Given the description of an element on the screen output the (x, y) to click on. 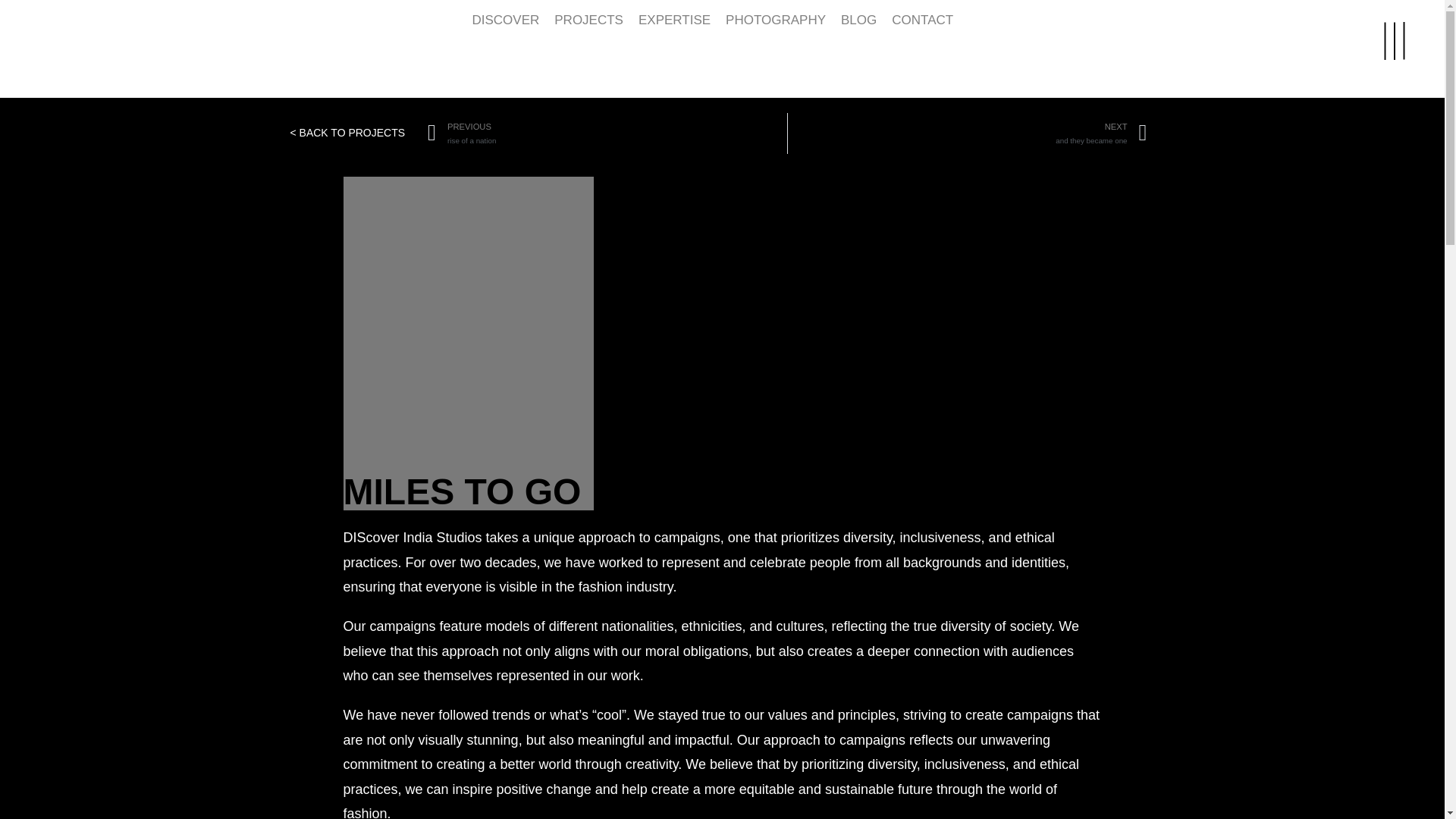
DIScover (44, 44)
EXPERTISE (967, 133)
PROJECTS (607, 133)
CONTACT (673, 21)
BLOG (588, 21)
DISCOVER (921, 21)
PHOTOGRAPHY (857, 21)
